Given the description of an element on the screen output the (x, y) to click on. 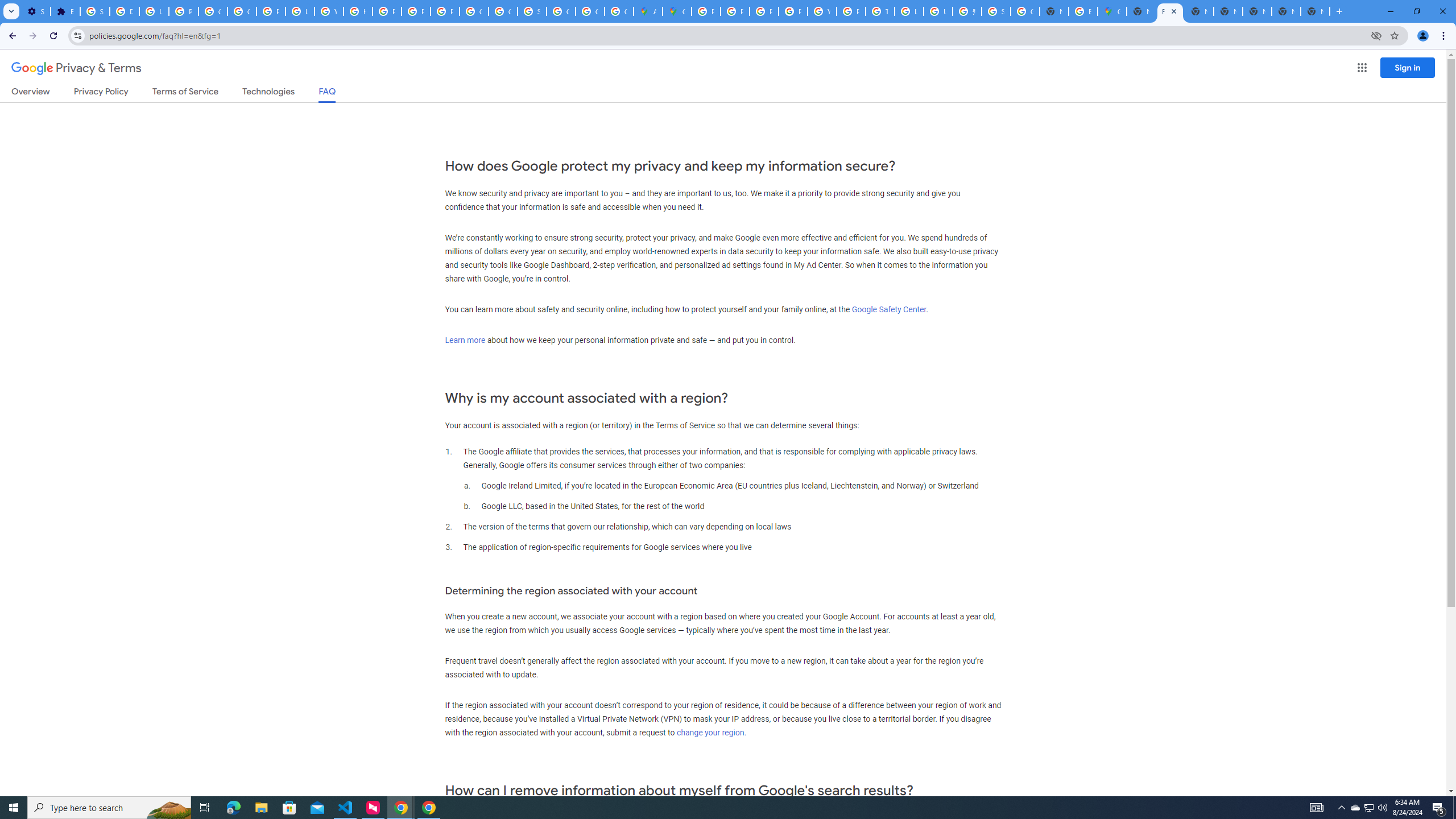
https://scholar.google.com/ (357, 11)
Sign in - Google Accounts (996, 11)
Explore new street-level details - Google Maps Help (1082, 11)
